Given the description of an element on the screen output the (x, y) to click on. 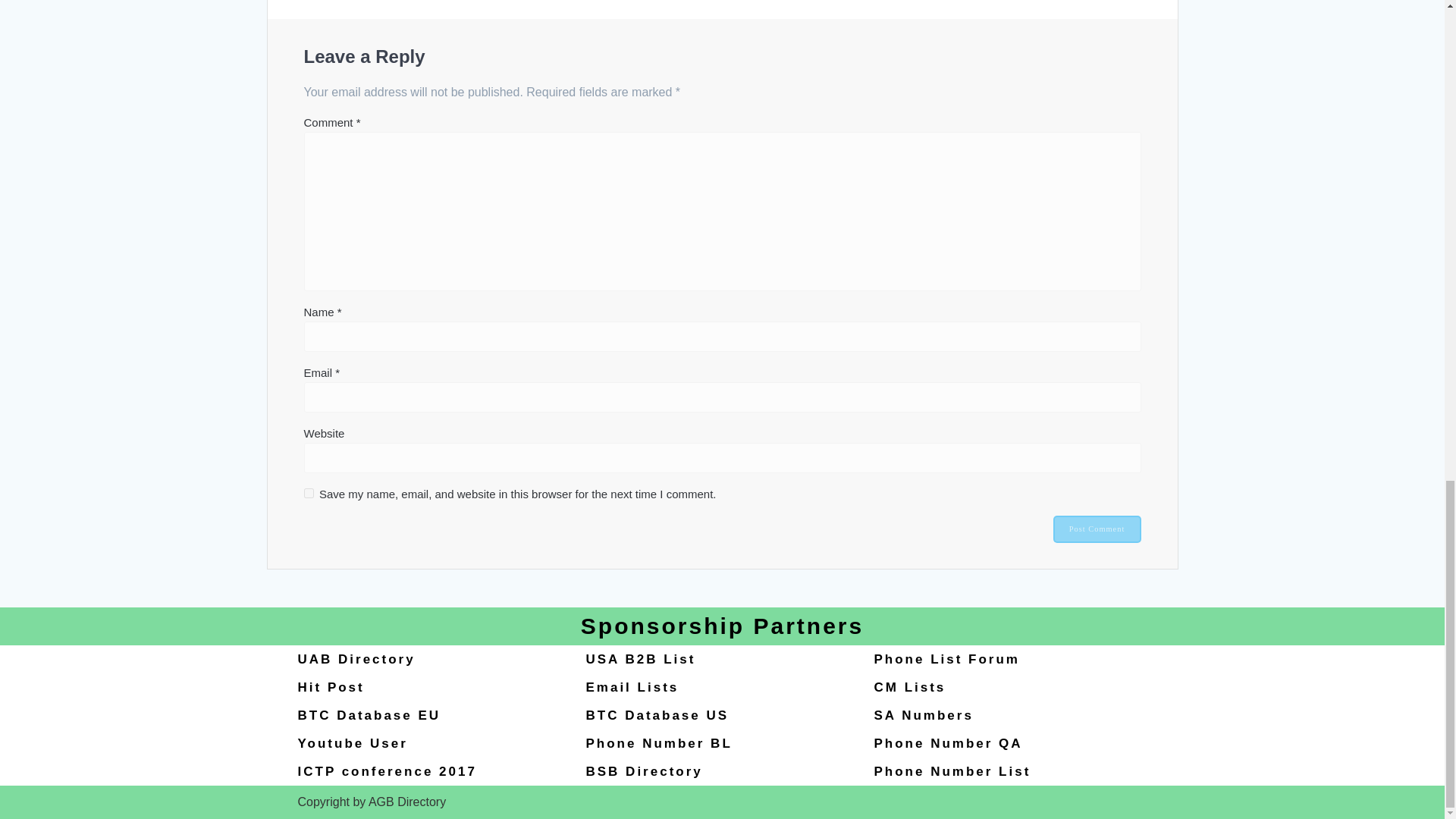
Youtube User (352, 743)
UAB Directory (355, 658)
yes (307, 492)
USA B2B List (640, 658)
Hit Post (330, 687)
ICTP conference 2017 (386, 771)
Email Lists (631, 687)
Post Comment (1096, 528)
BTC Database EU (369, 715)
Post Comment (1096, 528)
